Given the description of an element on the screen output the (x, y) to click on. 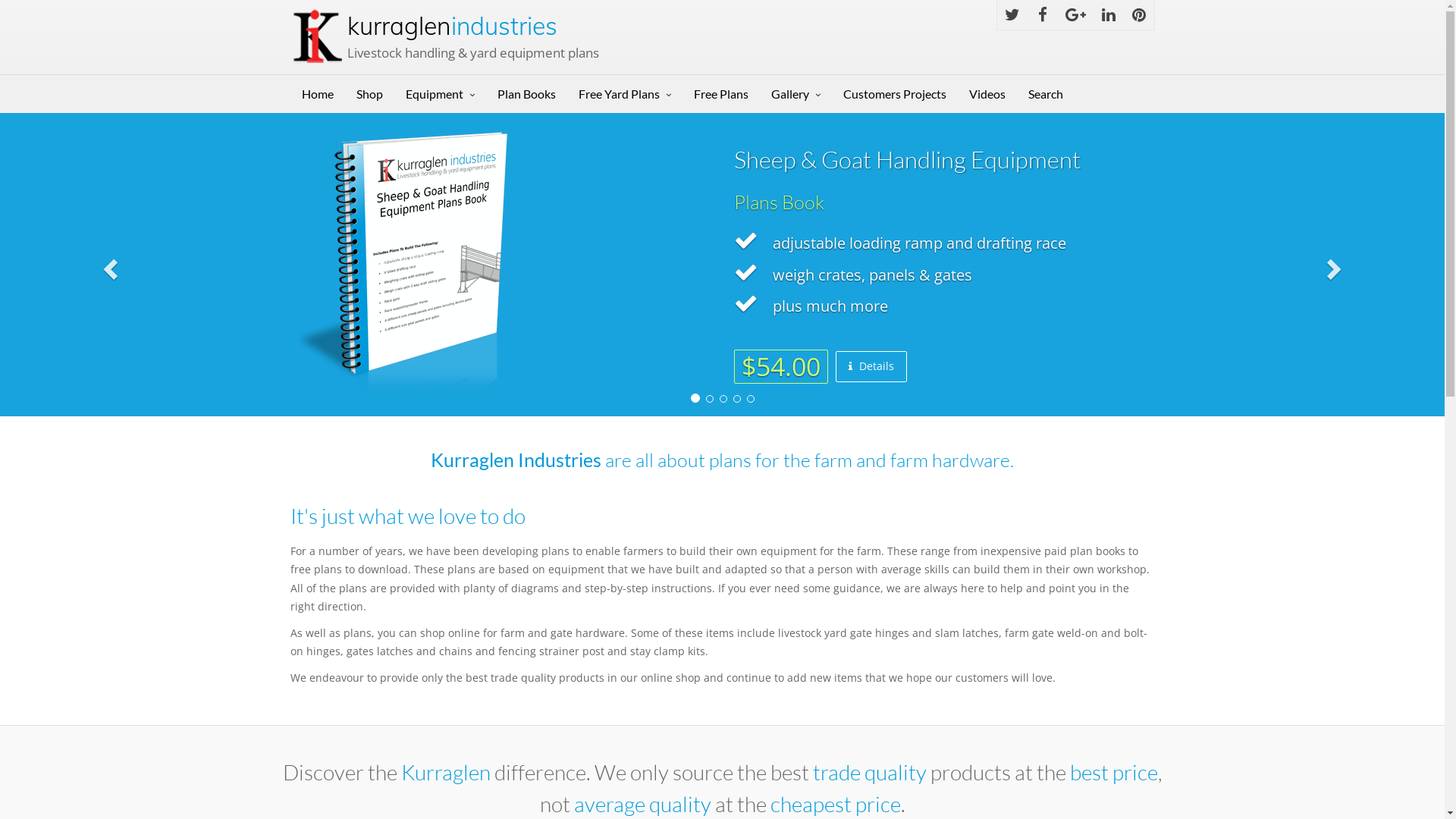
Videos Element type: text (986, 93)
Shop Element type: text (368, 93)
Free Plans Element type: text (720, 93)
Customers Projects Element type: text (894, 93)
Free Yard Plans Element type: text (624, 93)
Equipment Element type: text (440, 93)
Gallery Element type: text (795, 93)
Search Element type: text (1044, 93)
kurraglen industries Element type: text (452, 25)
Home Element type: text (316, 93)
Plan Books Element type: text (525, 93)
Details Element type: text (870, 366)
